Given the description of an element on the screen output the (x, y) to click on. 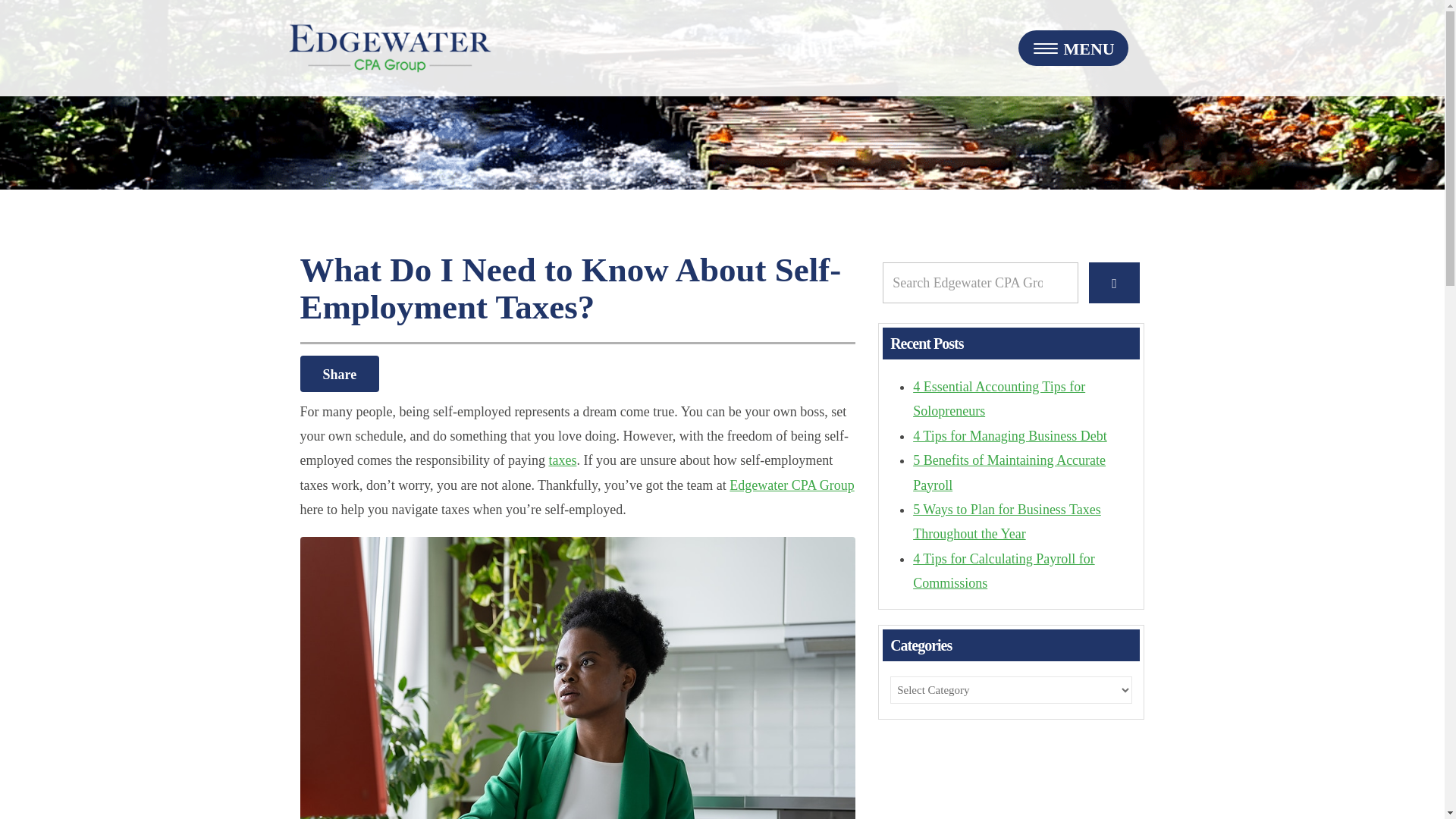
taxes (562, 459)
Toggle navigation (1071, 48)
Edgewater CPA Group (791, 485)
Share (339, 372)
